Given the description of an element on the screen output the (x, y) to click on. 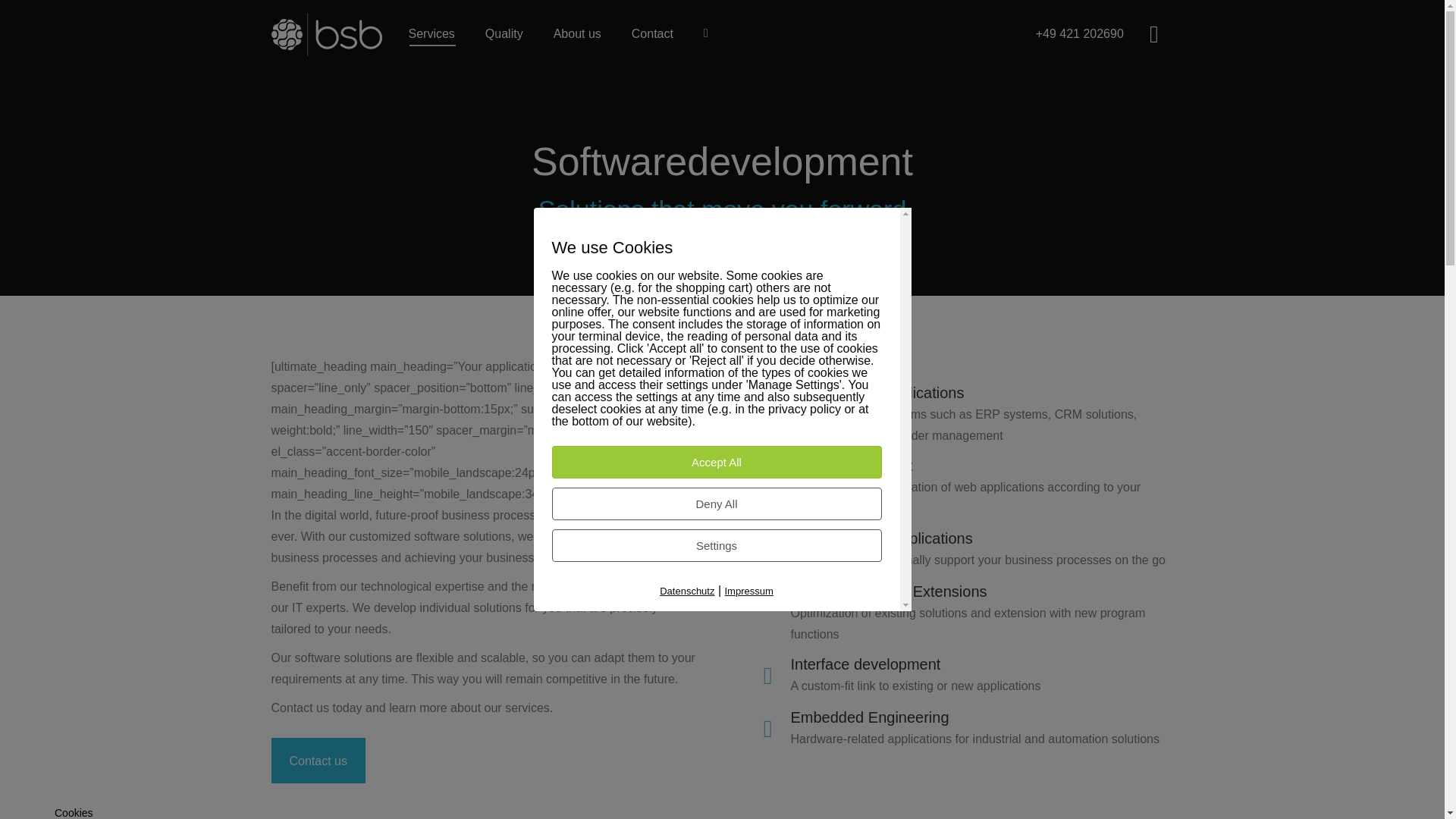
Kostenlos beraten (317, 759)
Quality (503, 34)
Contact us (317, 759)
Contact (651, 34)
About us (577, 34)
Services (430, 34)
